Given the description of an element on the screen output the (x, y) to click on. 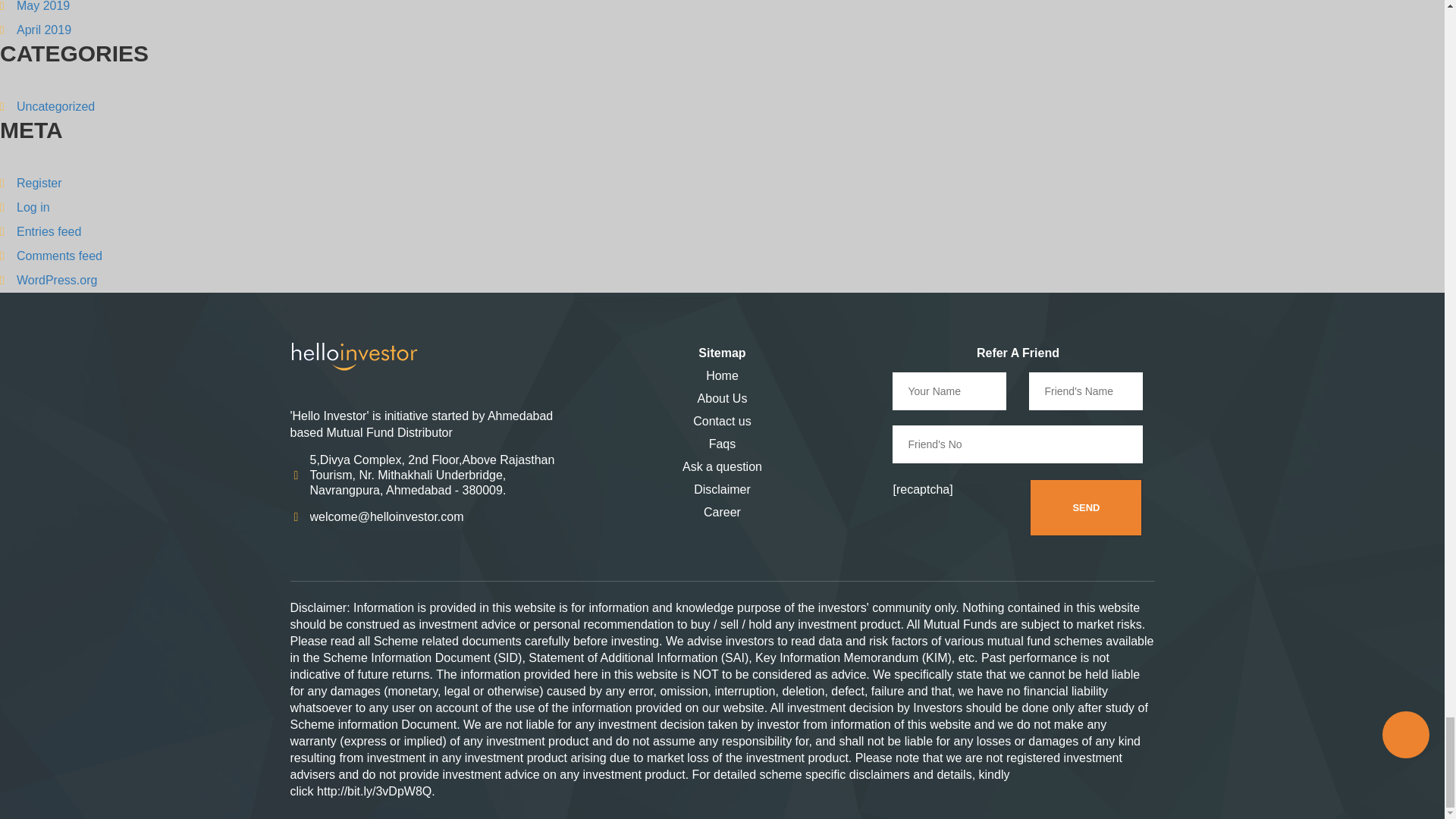
Send (1085, 507)
